Given the description of an element on the screen output the (x, y) to click on. 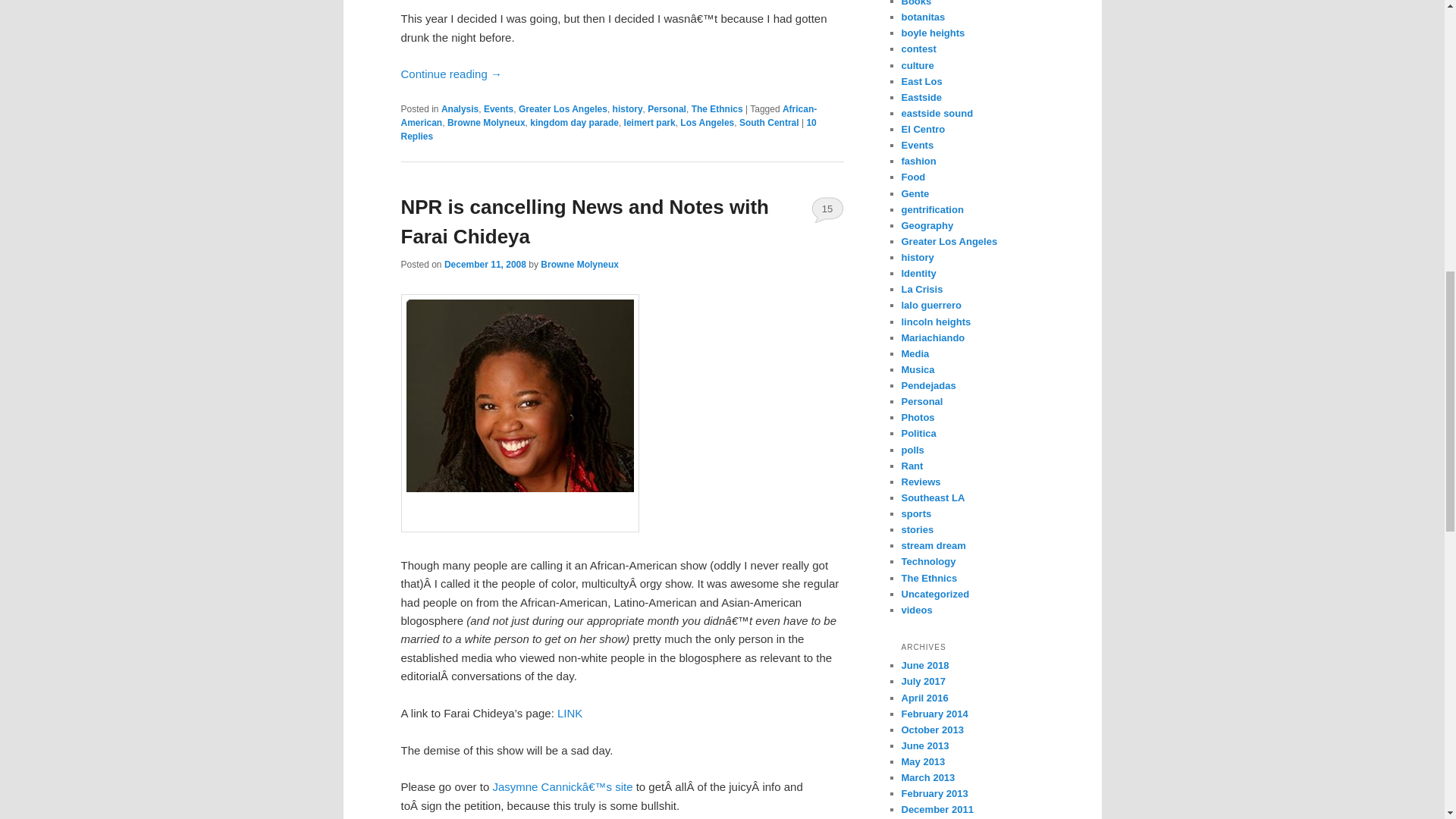
10 Replies (607, 129)
NPR is cancelling News and Notes with Farai Chideya (584, 221)
South Central (769, 122)
Los Angeles (706, 122)
African-American (608, 115)
Greater Los Angeles (562, 109)
View all posts by Browne Molyneux (579, 264)
leimert park (649, 122)
Events (498, 109)
LINK (569, 712)
Browne Molyneux (579, 264)
kingdom day parade (573, 122)
December 11, 2008 (484, 264)
Personal (666, 109)
Browne Molyneux (485, 122)
